Given the description of an element on the screen output the (x, y) to click on. 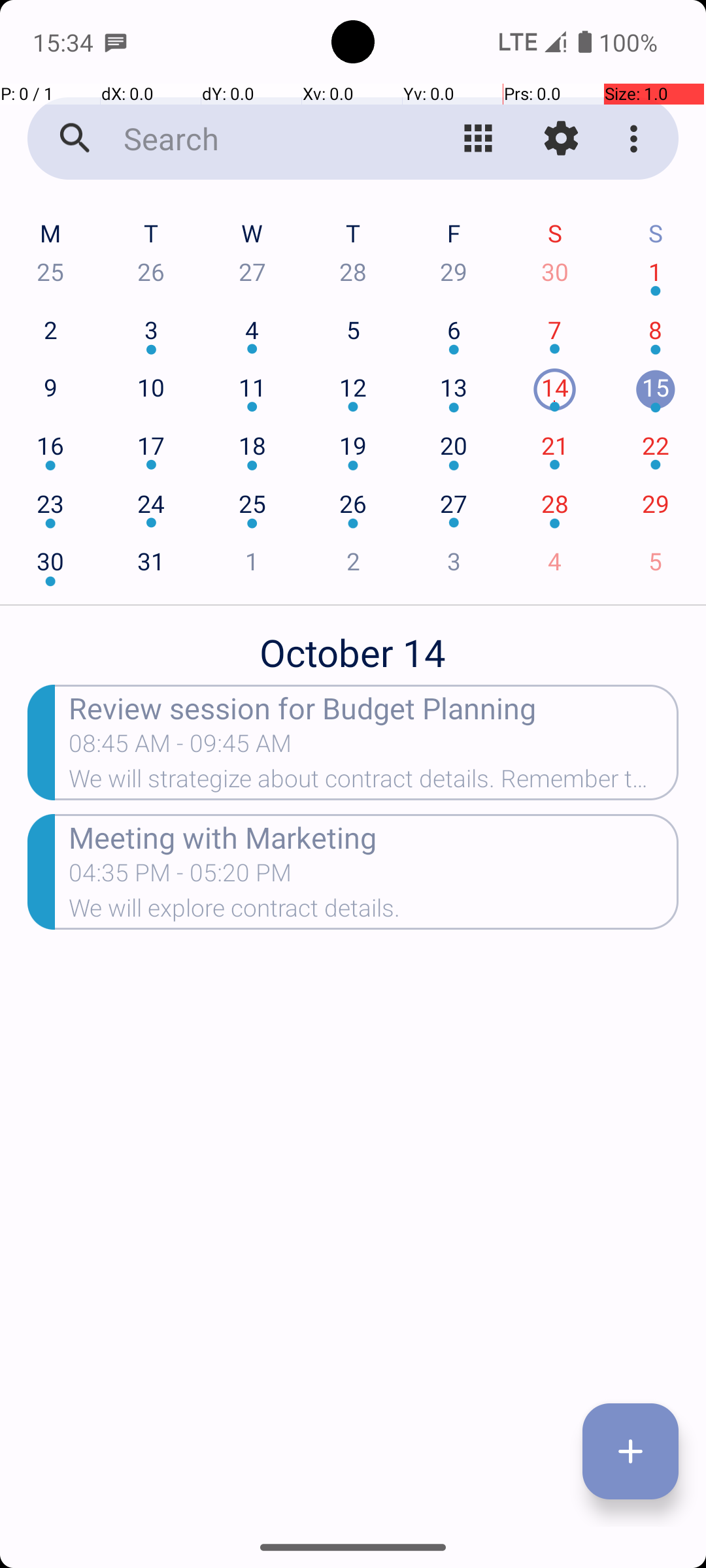
October 14 Element type: android.widget.TextView (352, 644)
08:45 AM - 09:45 AM Element type: android.widget.TextView (179, 747)
We will strategize about contract details. Remember to confirm attendance. Element type: android.widget.TextView (373, 782)
04:35 PM - 05:20 PM Element type: android.widget.TextView (179, 876)
We will explore contract details. Element type: android.widget.TextView (373, 911)
